Given the description of an element on the screen output the (x, y) to click on. 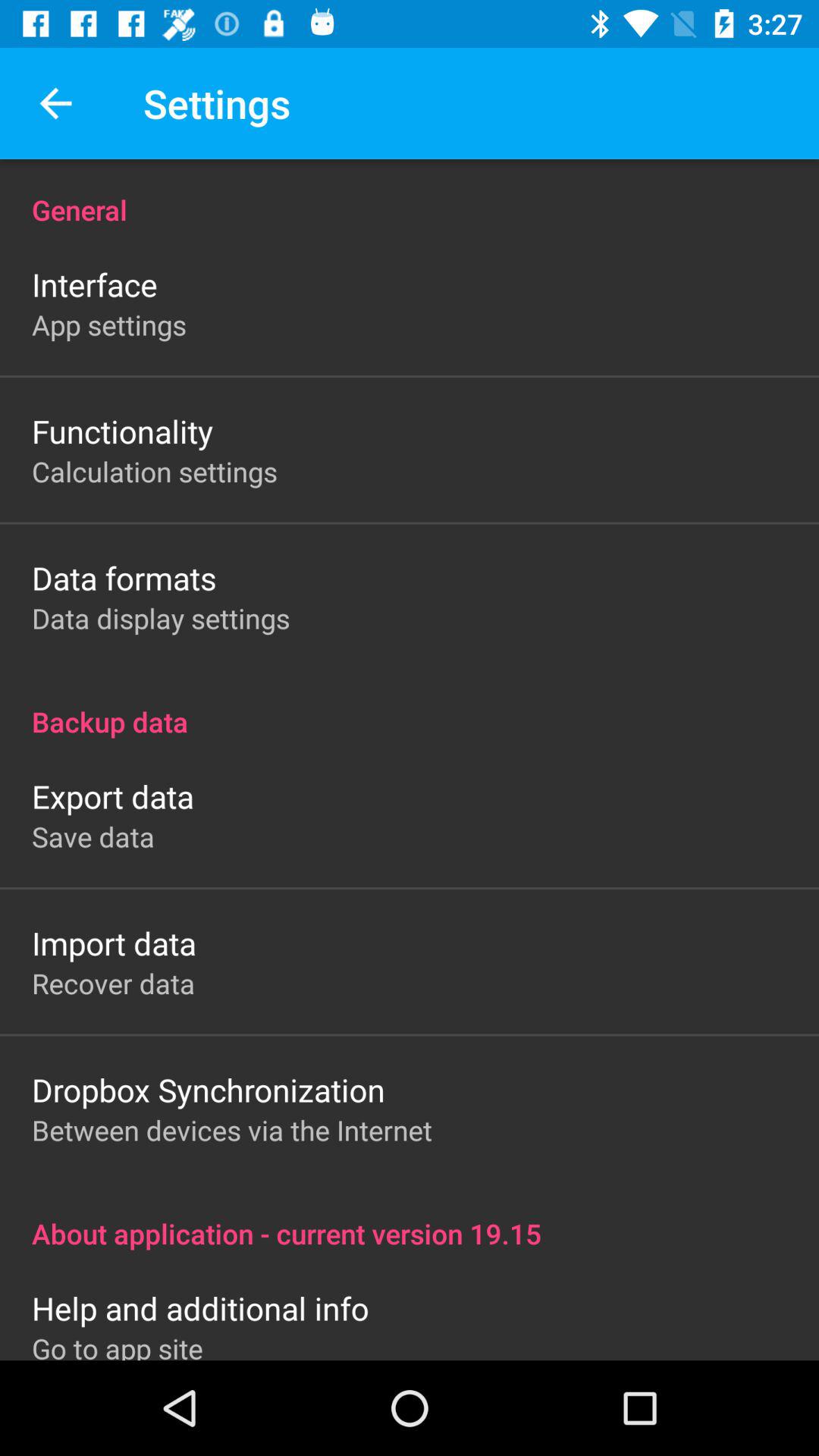
turn off icon to the left of settings (55, 103)
